Given the description of an element on the screen output the (x, y) to click on. 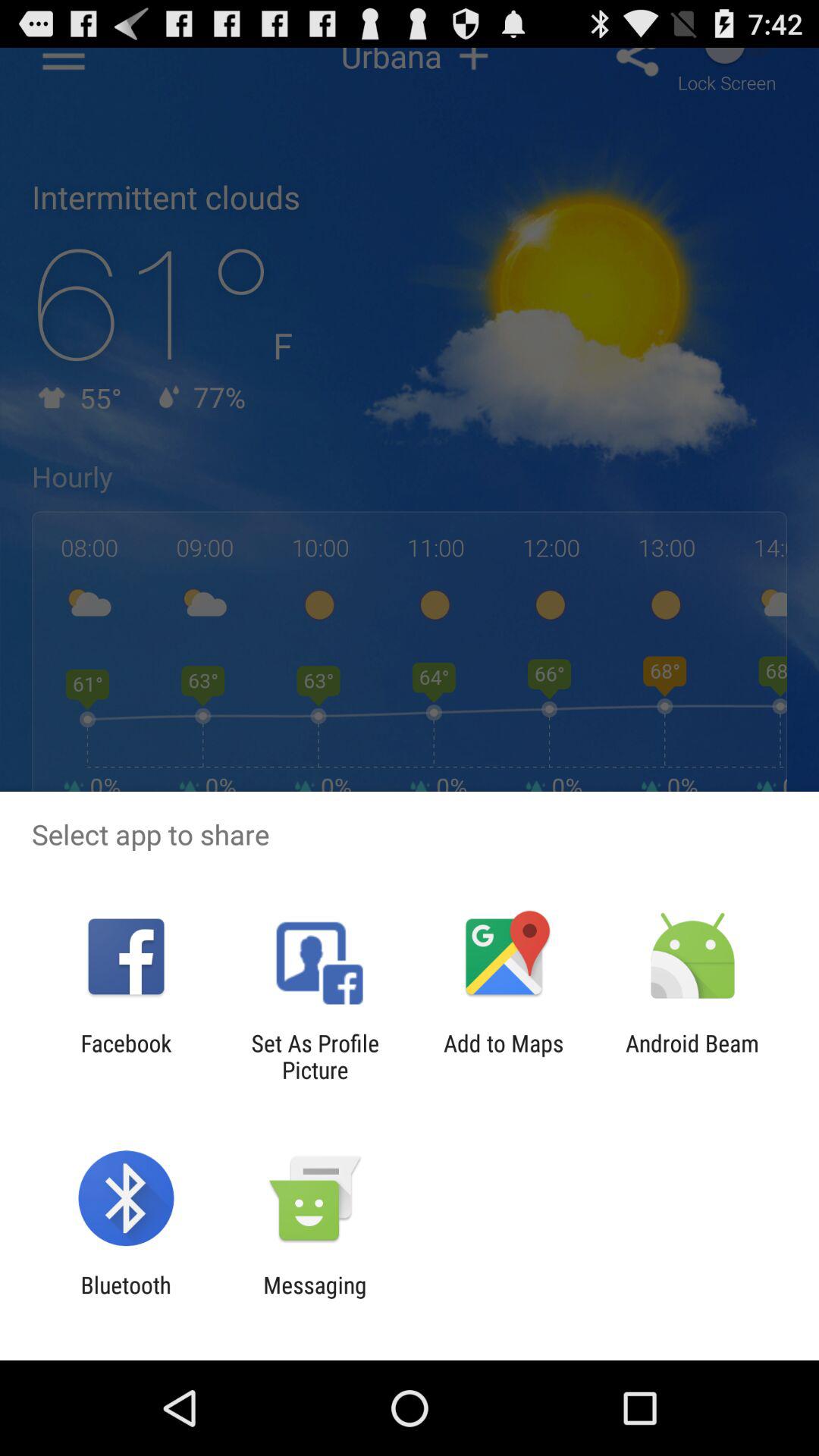
press the item to the right of the bluetooth item (314, 1298)
